Given the description of an element on the screen output the (x, y) to click on. 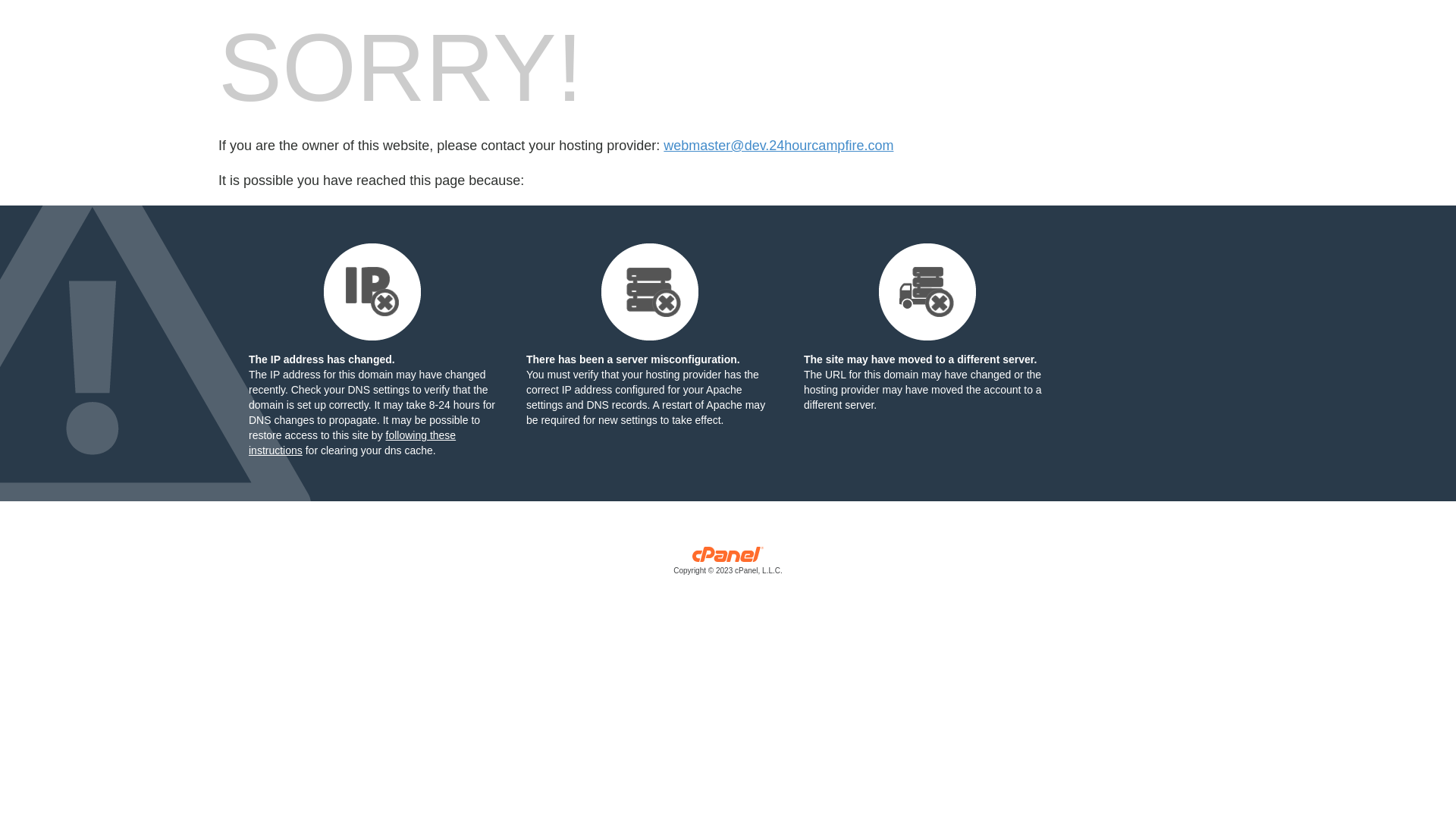
following these instructions Element type: text (351, 442)
webmaster@dev.24hourcampfire.com Element type: text (778, 145)
